Given the description of an element on the screen output the (x, y) to click on. 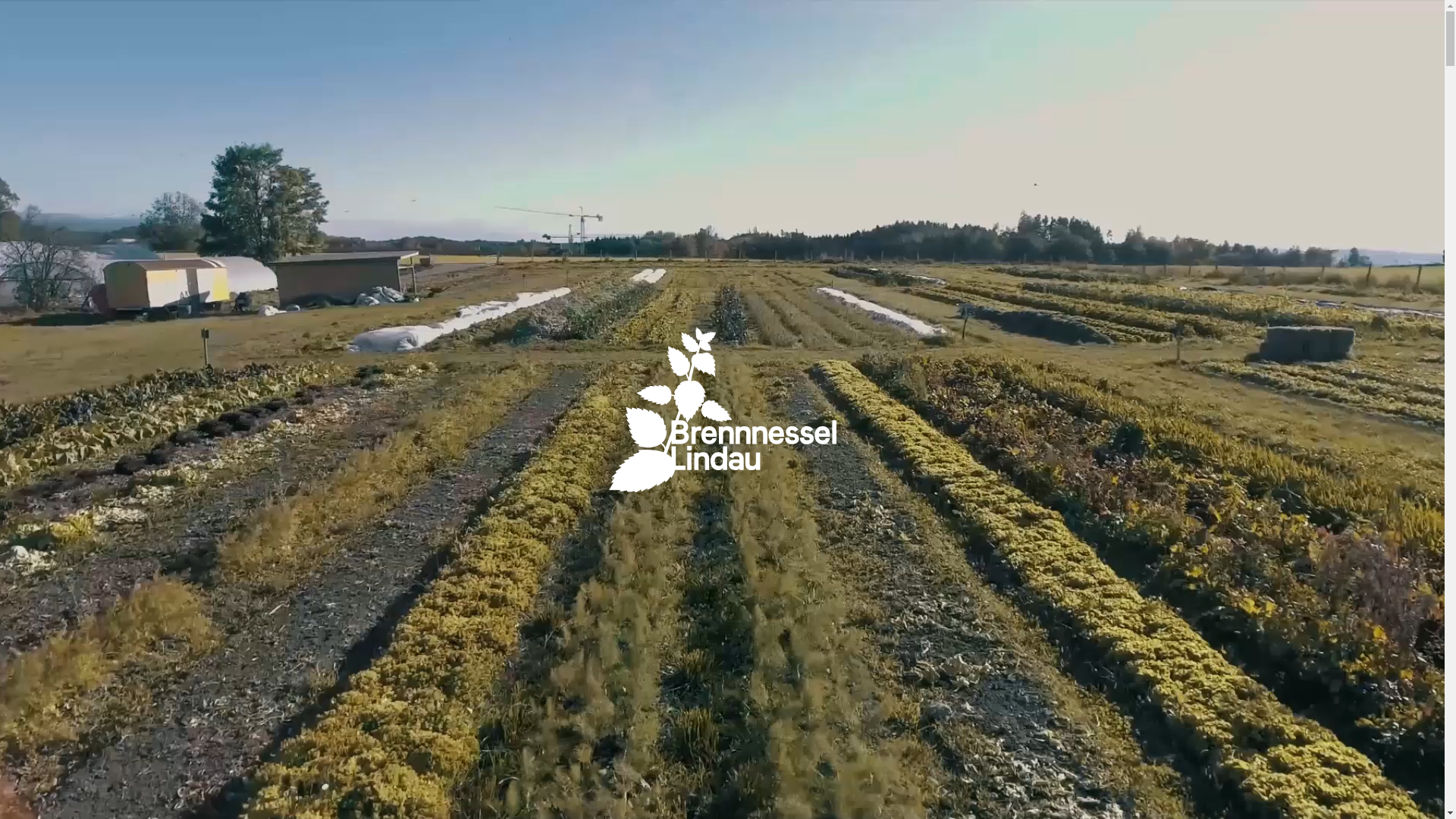
Team Element type: text (1188, 69)
Angebot Element type: text (1032, 69)
regenerativen Ackerbaus Element type: text (438, 456)
Login Element type: text (1343, 69)
Kontakt Element type: text (1266, 69)
Anbau Element type: text (1114, 69)
Aktuell Element type: text (947, 69)
Market Gardenings Element type: text (255, 432)
